Given the description of an element on the screen output the (x, y) to click on. 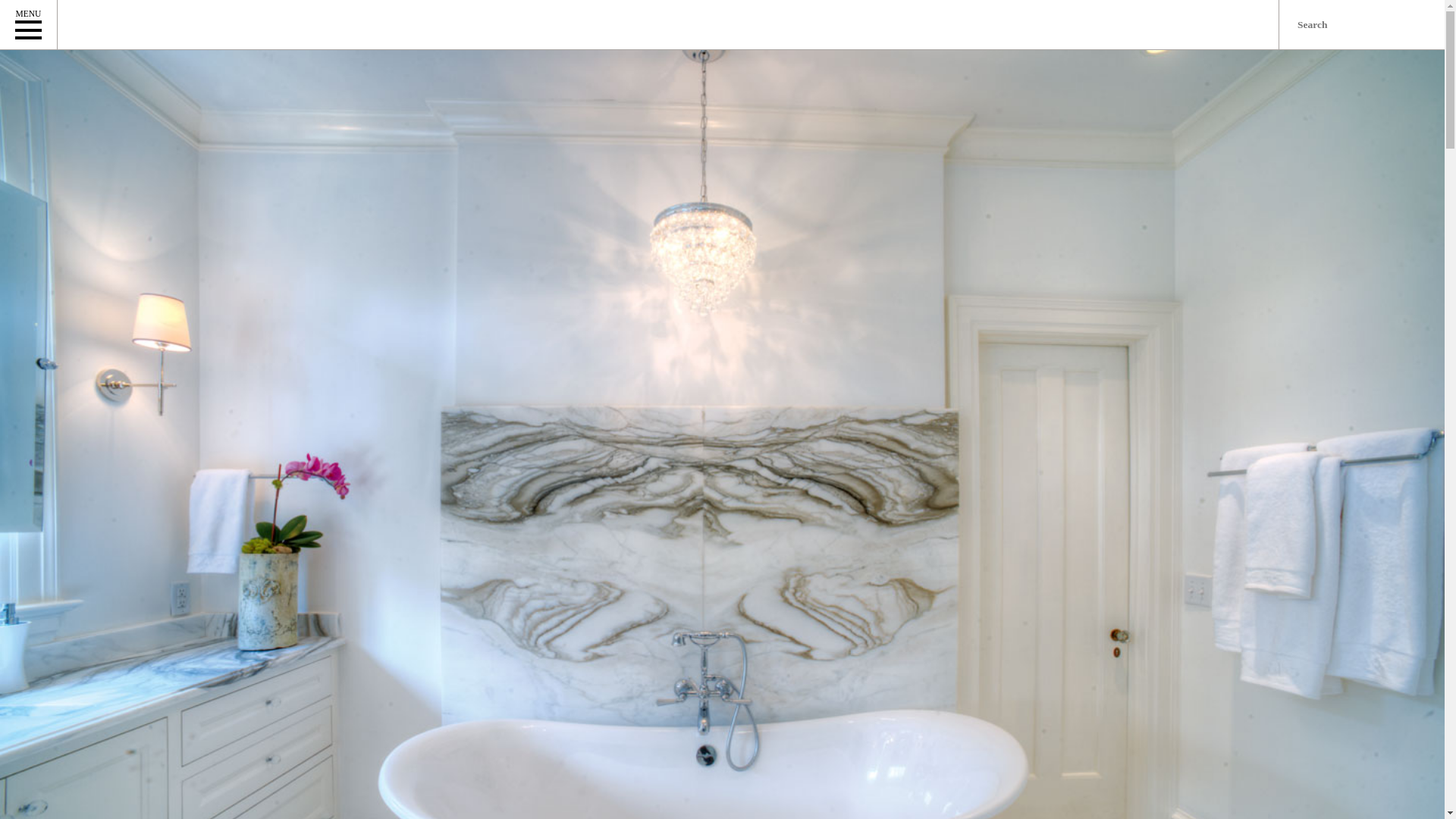
Search for: (1361, 24)
Search (18, 7)
site logo (188, 23)
